Given the description of an element on the screen output the (x, y) to click on. 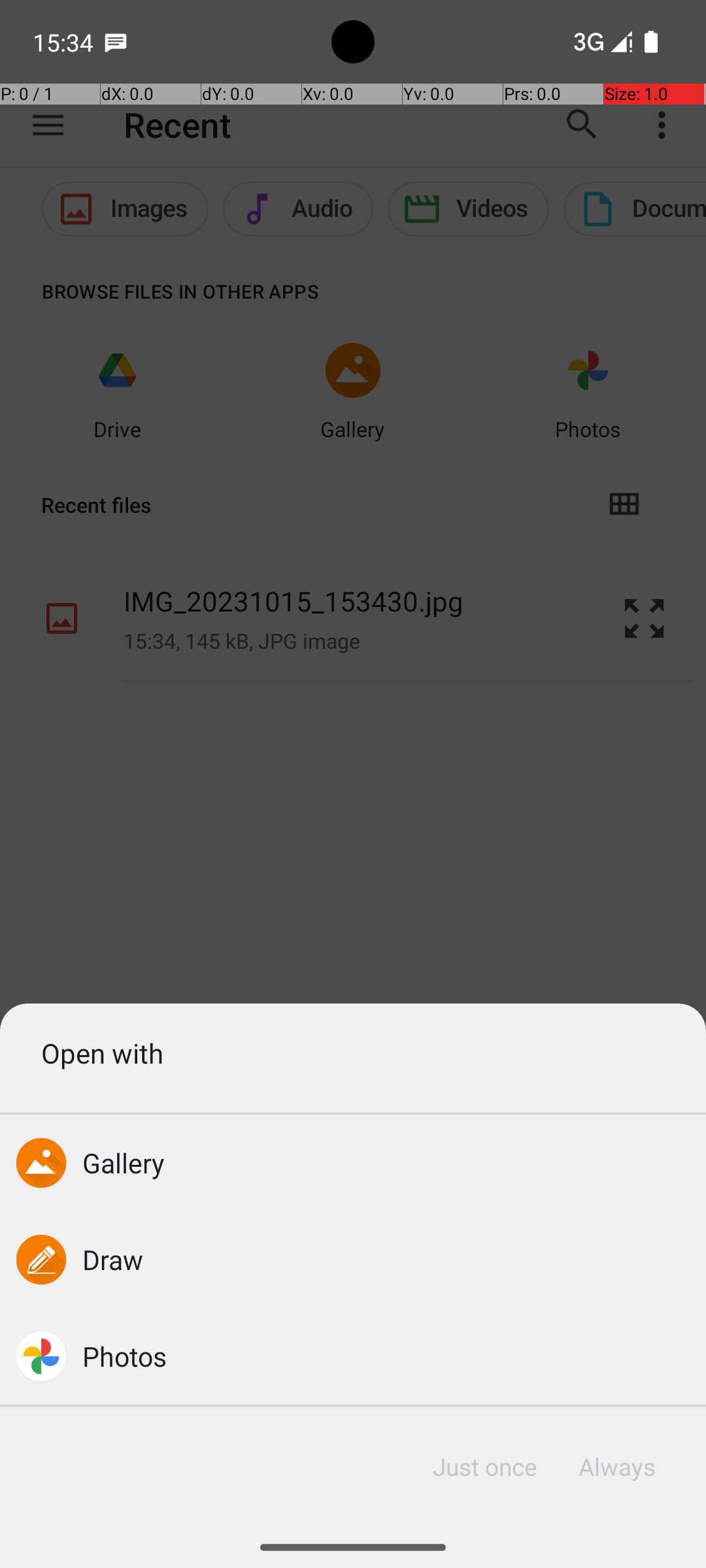
Open with Element type: android.widget.TextView (352, 1052)
Just once Element type: android.widget.Button (484, 1466)
Draw Element type: android.widget.TextView (112, 1258)
